Given the description of an element on the screen output the (x, y) to click on. 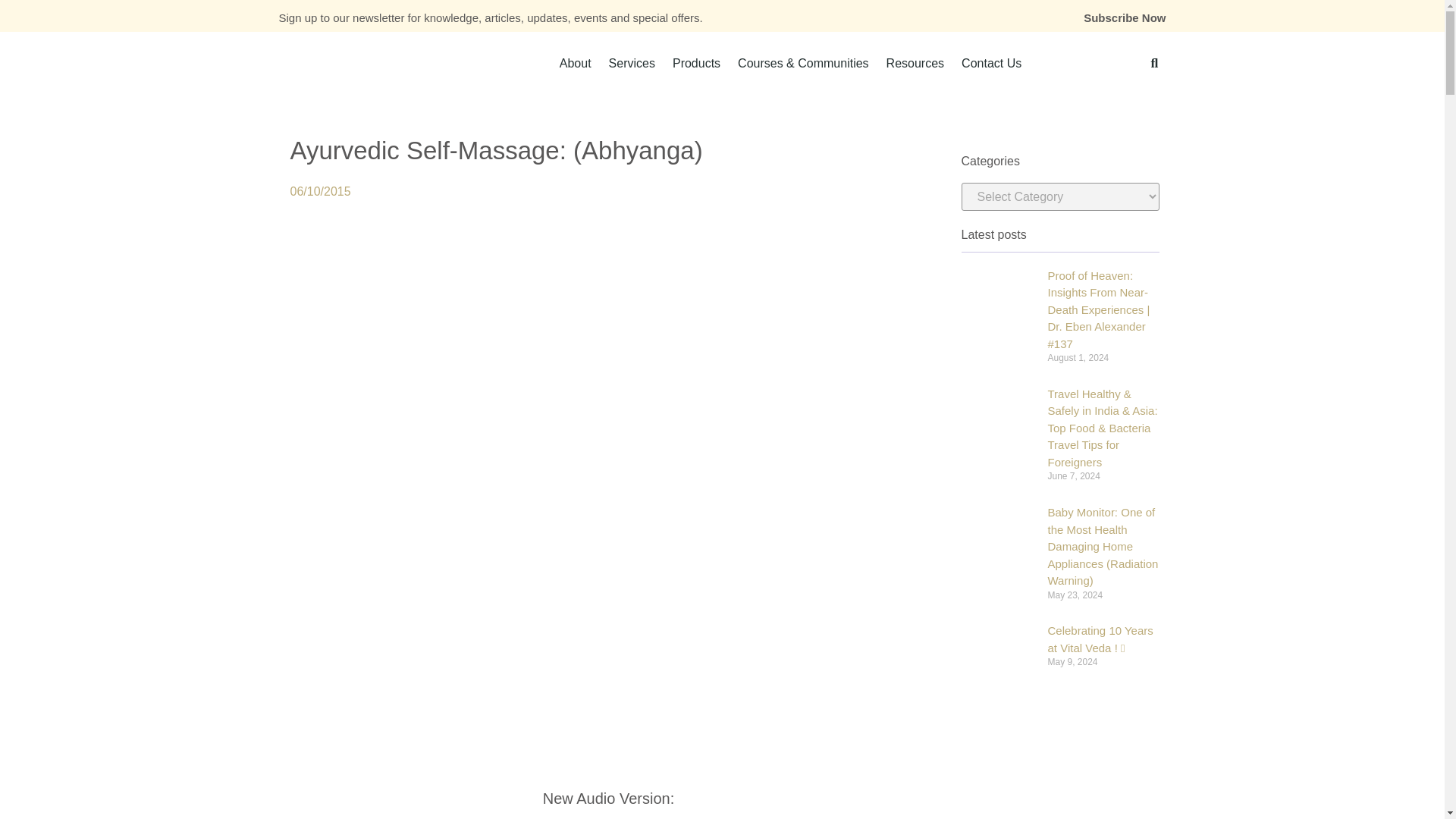
About (575, 63)
Services (632, 63)
Products (695, 63)
Contact Us (991, 63)
Resources (914, 63)
Subscribe Now (1124, 17)
